Given the description of an element on the screen output the (x, y) to click on. 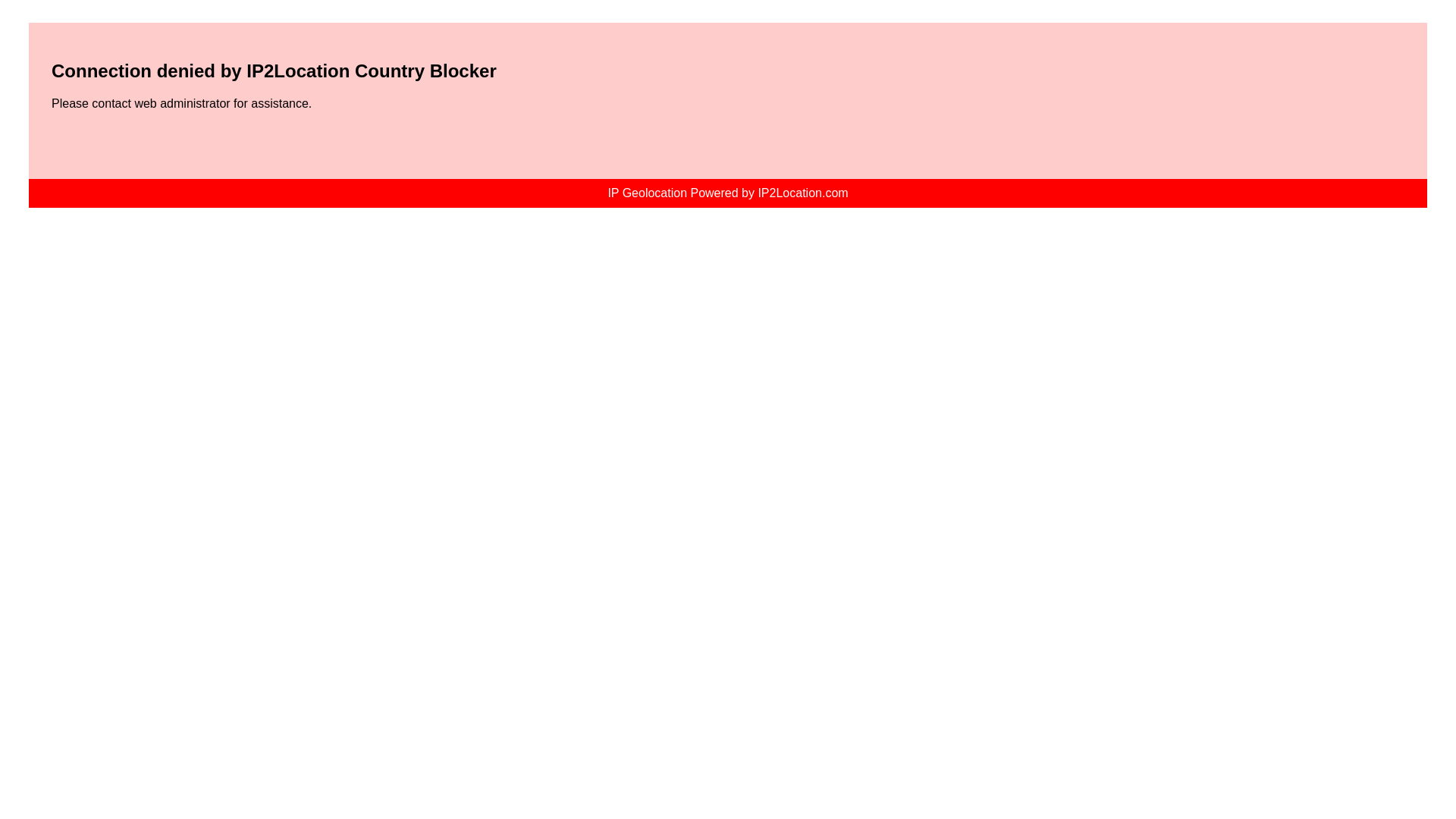
IP Geolocation Powered by IP2Location.com (727, 192)
